Given the description of an element on the screen output the (x, y) to click on. 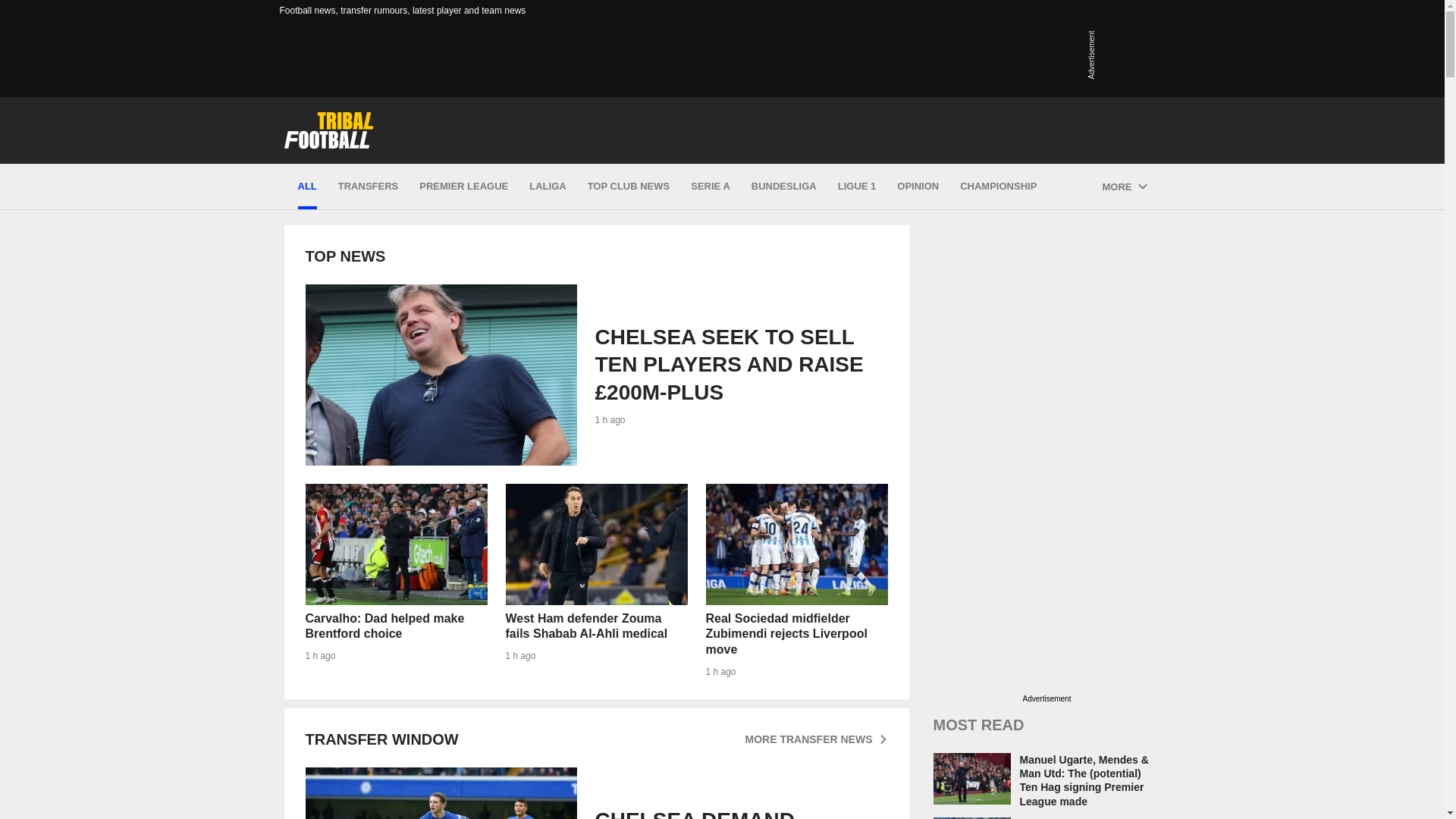
Carvalho: Dad helped make Brentford choice (395, 544)
BUNDESLIGA (783, 186)
PREMIER LEAGUE (463, 186)
TRANSFERS (595, 793)
CHAMPIONSHIP (367, 186)
OPINION (997, 186)
TOP CLUB NEWS (917, 186)
Real Sociedad midfielder Zubimendi rejects Liverpool move (628, 186)
MORE (795, 544)
